Given the description of an element on the screen output the (x, y) to click on. 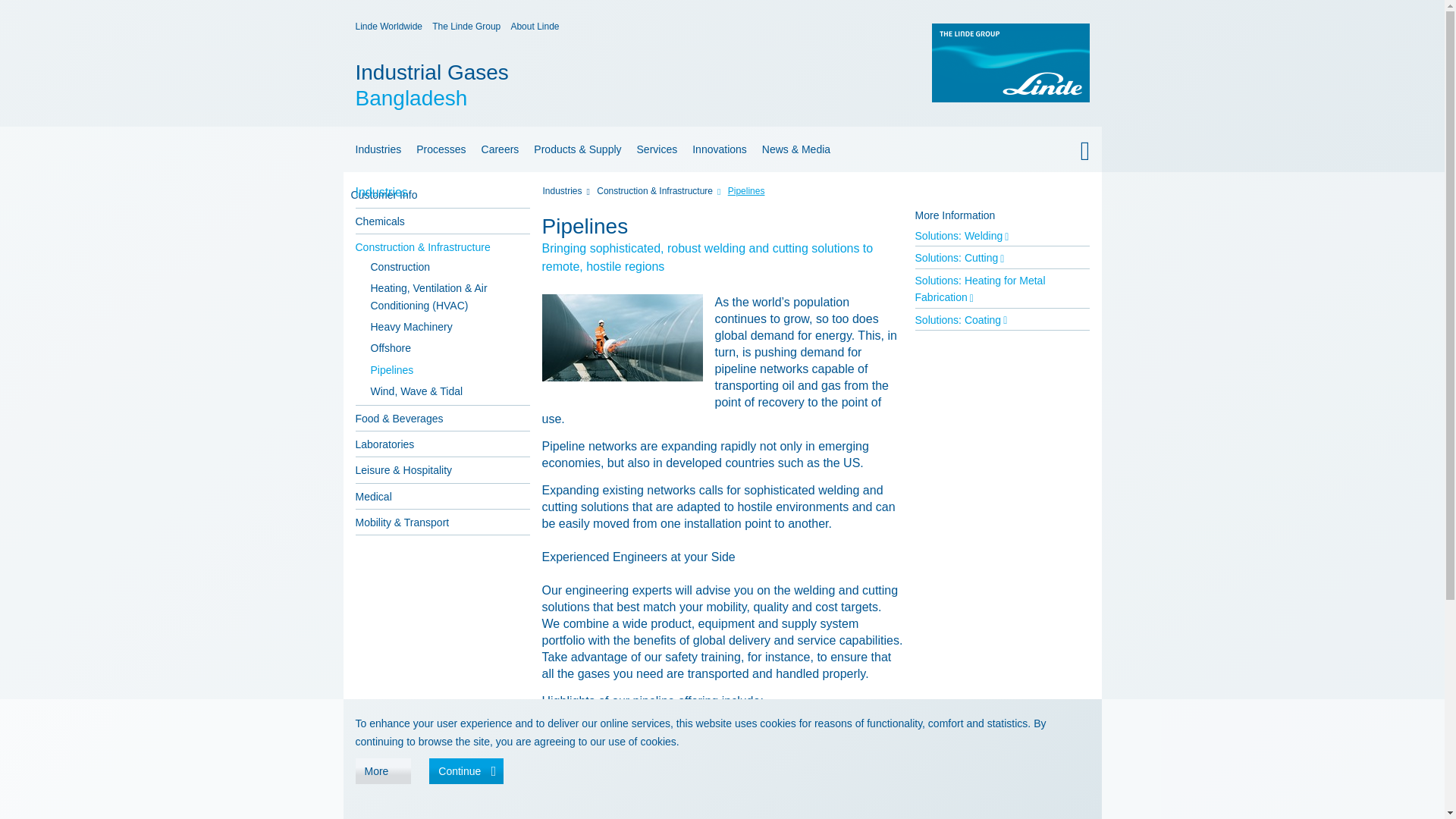
Industries (375, 148)
Linde Worldwide (388, 26)
About Linde (535, 26)
Industries (721, 194)
The Linde Group (574, 84)
